Given the description of an element on the screen output the (x, y) to click on. 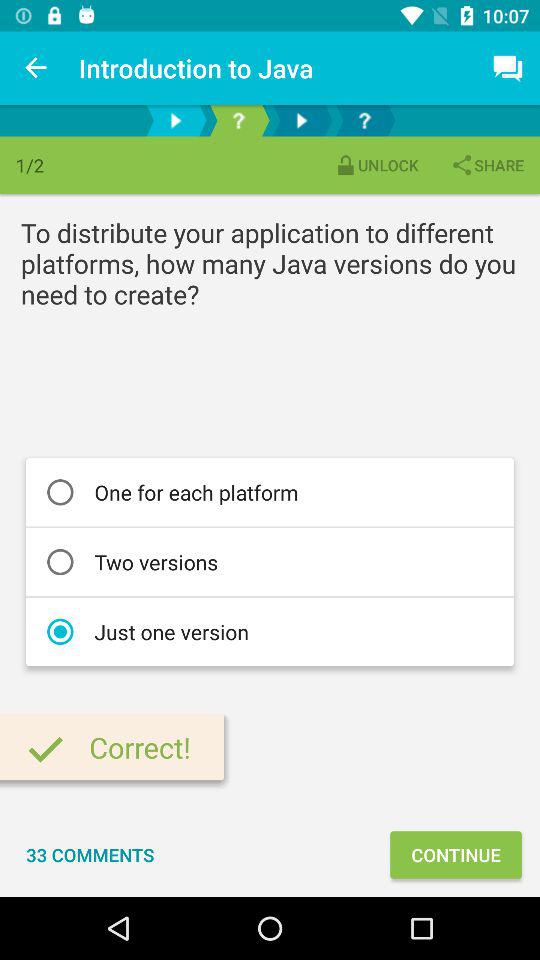
what next (364, 120)
